Given the description of an element on the screen output the (x, y) to click on. 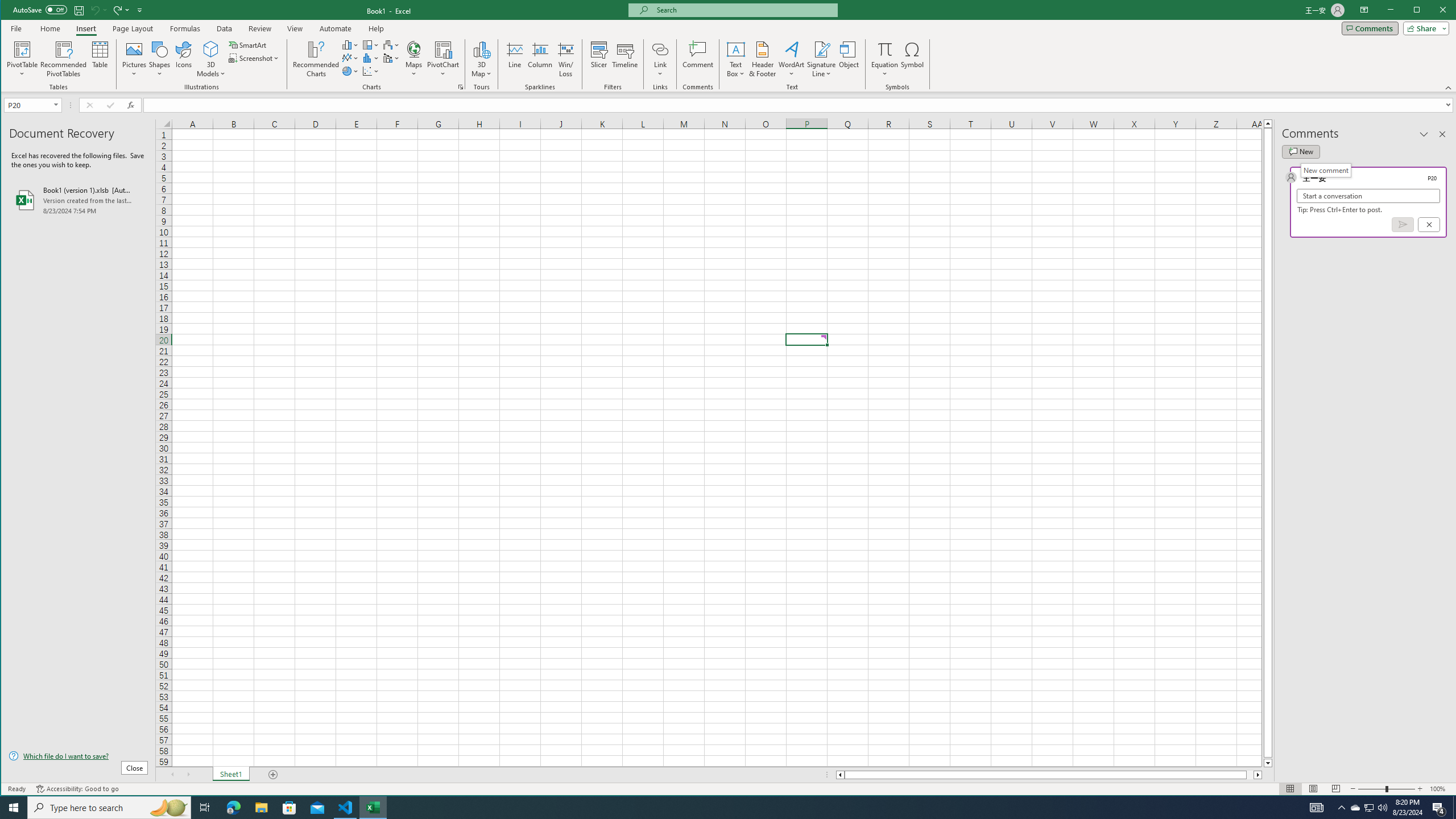
Signature Line (821, 59)
Recommended PivotTables (63, 59)
Home (50, 28)
Collapse the Ribbon (1448, 87)
Zoom In (1420, 788)
AutoSave (39, 9)
Scroll Left (172, 774)
Comments (1369, 28)
Table (100, 59)
Share (1423, 27)
Automate (336, 28)
Excel - 1 running window (373, 807)
3D Map (1355, 807)
